Given the description of an element on the screen output the (x, y) to click on. 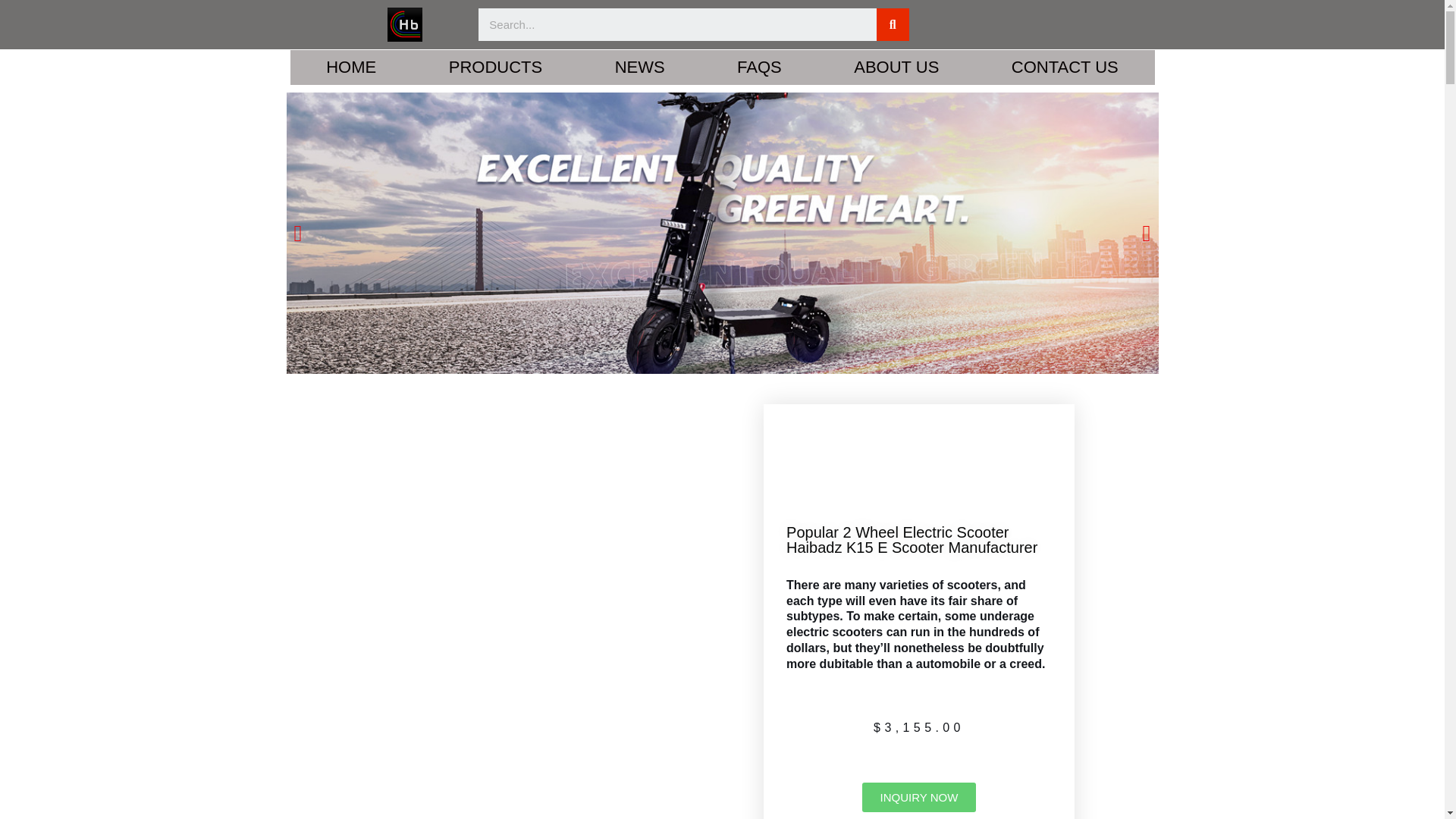
NEWS (639, 67)
Search (677, 24)
Search (892, 24)
CONTACT US (1064, 67)
HOME (350, 67)
ABOUT US (896, 67)
INQUIRY NOW (918, 797)
PRODUCTS (495, 67)
FAQS (758, 67)
